Given the description of an element on the screen output the (x, y) to click on. 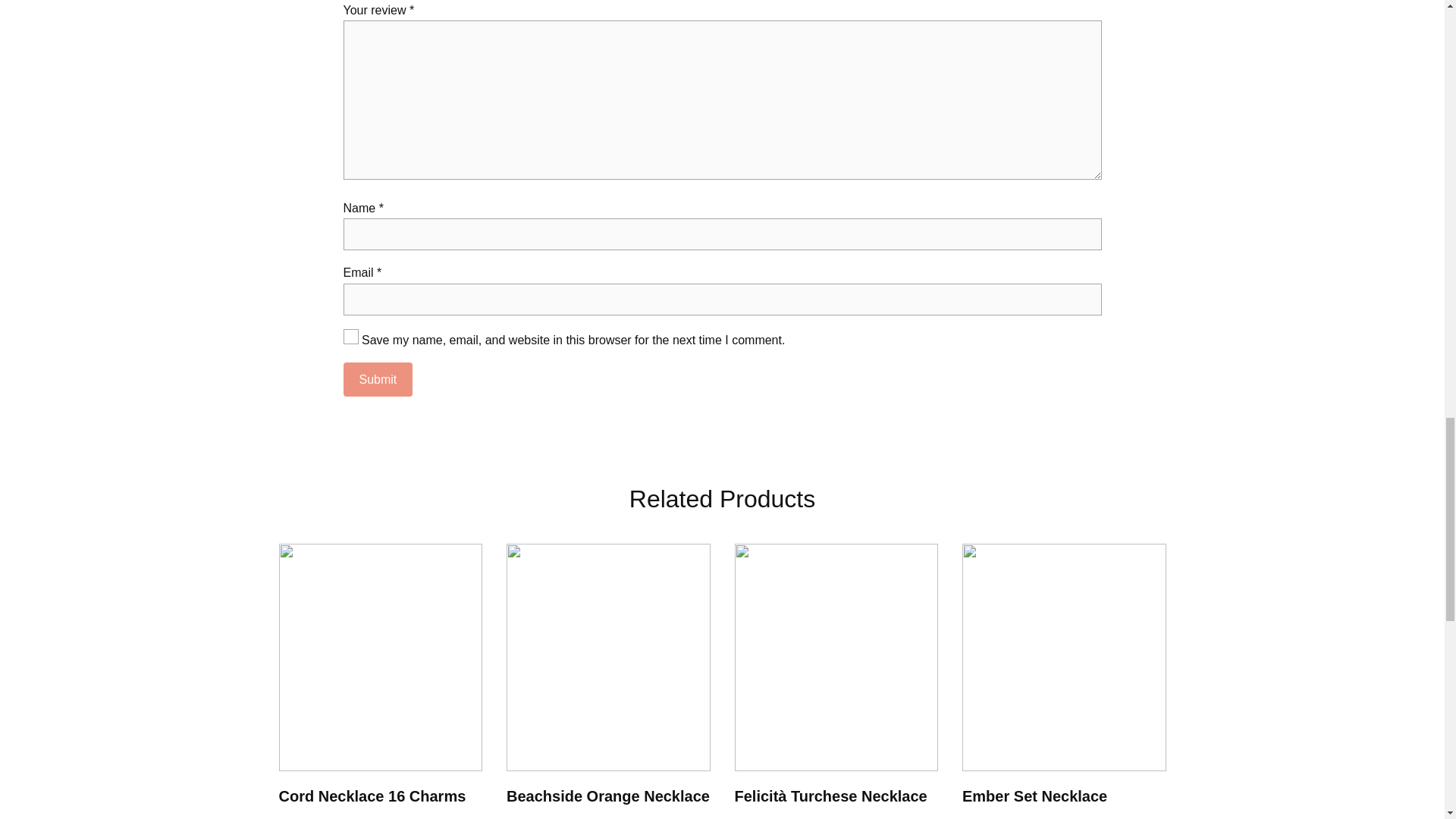
Submit (377, 379)
Submit (377, 379)
